Given the description of an element on the screen output the (x, y) to click on. 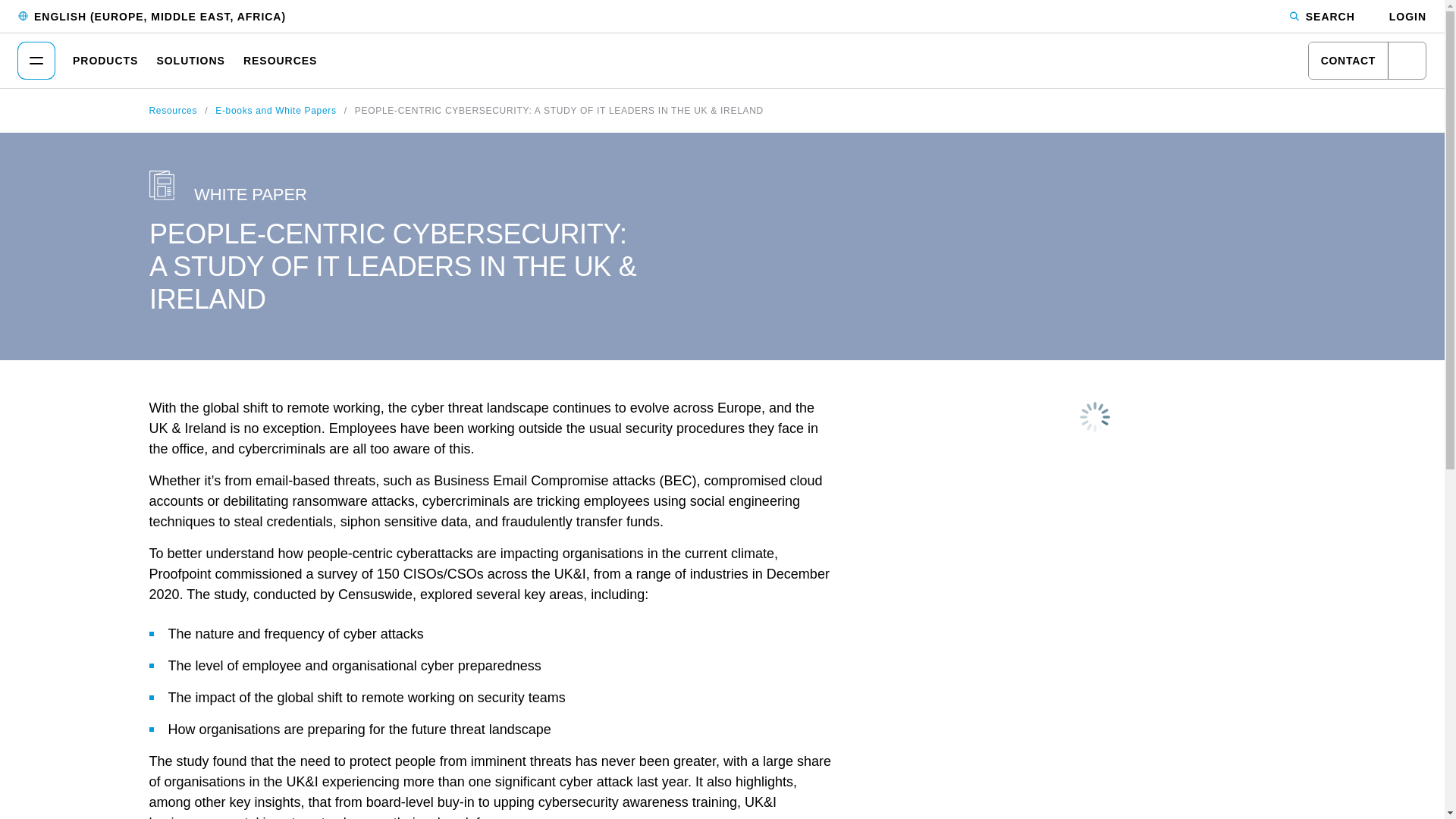
CONTACT (1366, 60)
Proofpoint (721, 59)
